Given the description of an element on the screen output the (x, y) to click on. 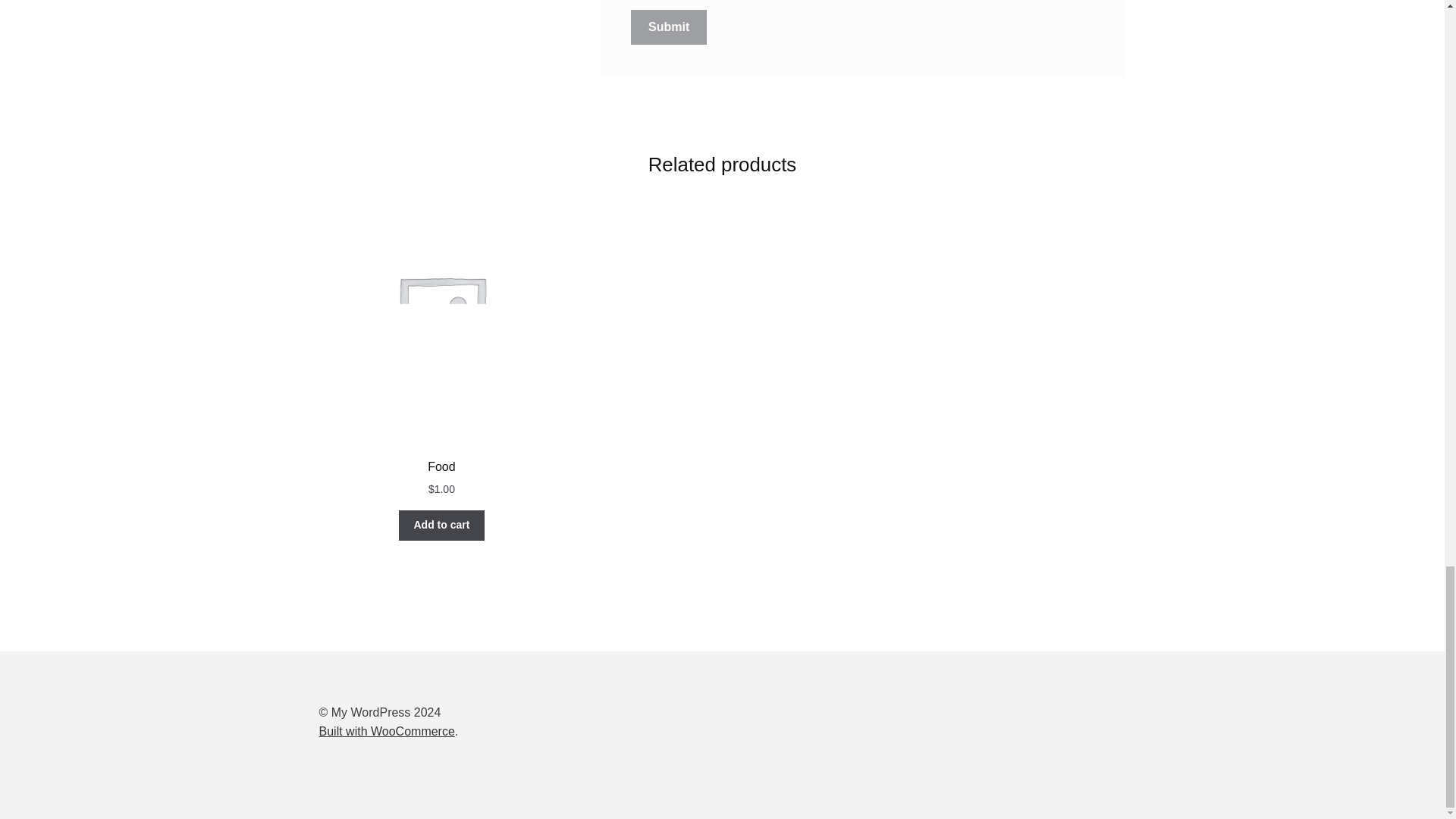
Submit (668, 27)
Add to cart (441, 525)
Submit (668, 27)
Built with WooCommerce (386, 730)
WooCommerce - The Best eCommerce Platform for WordPress (386, 730)
